Given the description of an element on the screen output the (x, y) to click on. 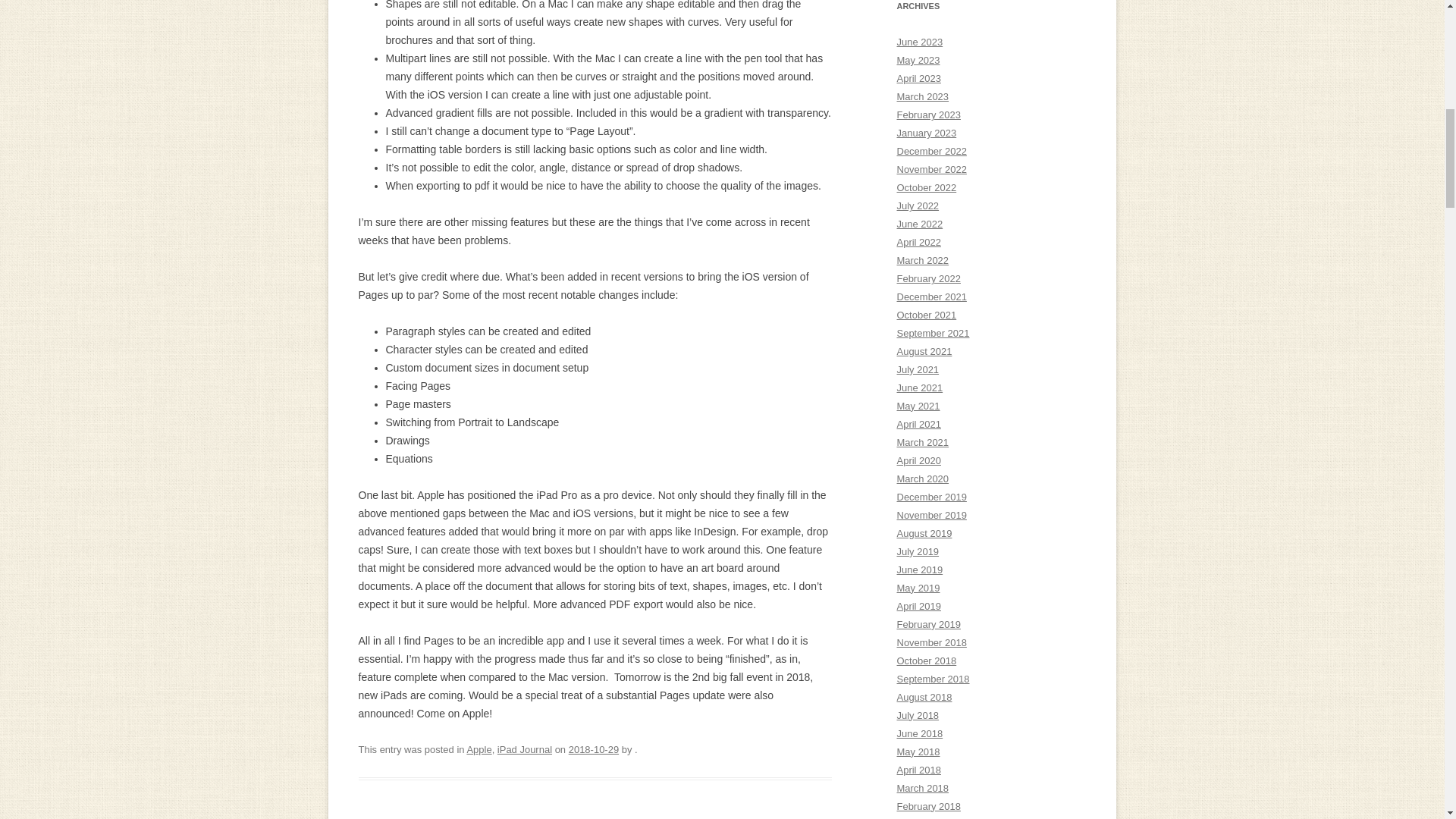
2018-10-29 (593, 749)
9:10 am (593, 749)
iPad Journal (524, 749)
Apple (478, 749)
